Given the description of an element on the screen output the (x, y) to click on. 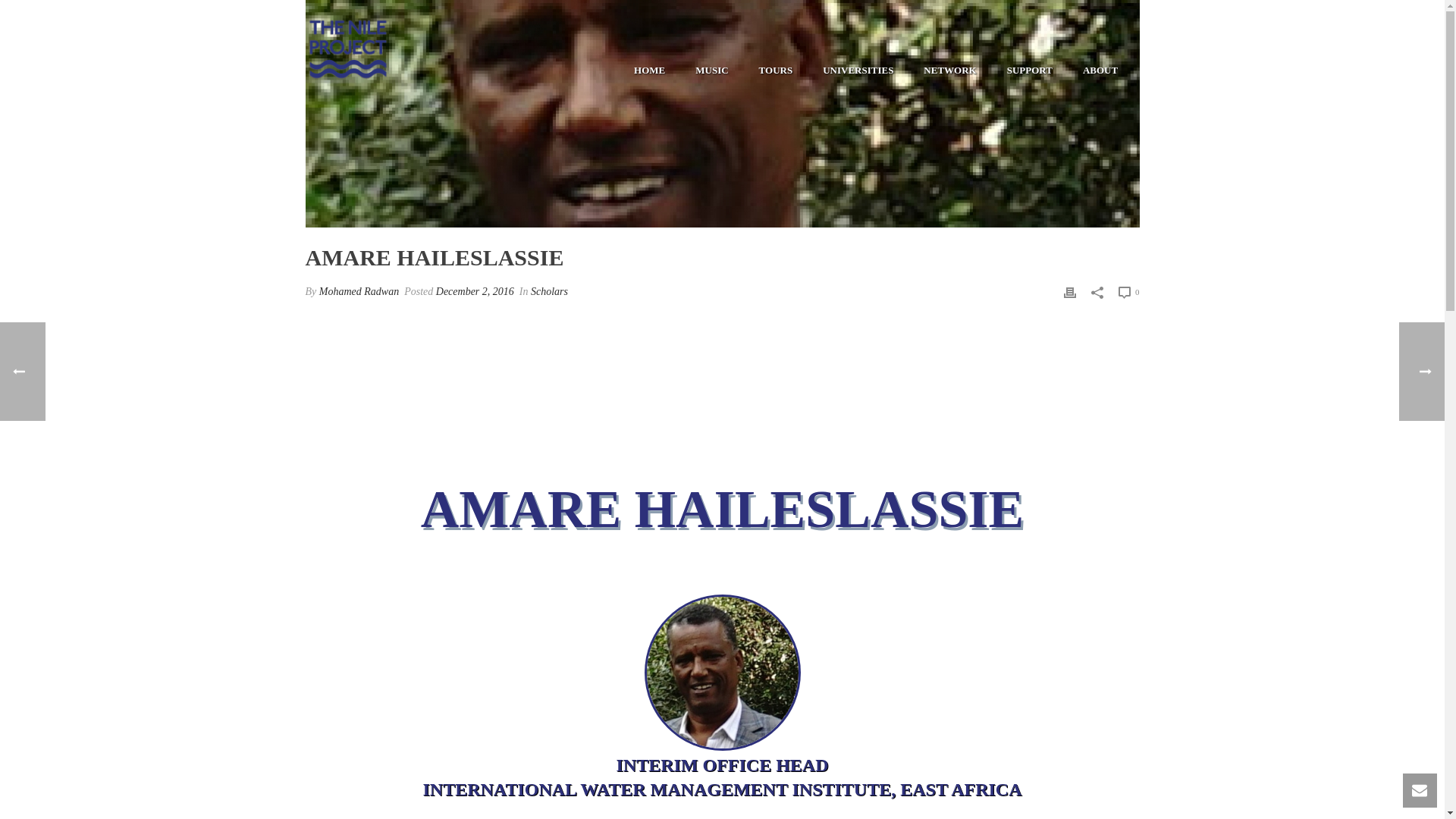
ABOUT (1099, 70)
TOURS (776, 70)
UNIVERSITIES (858, 70)
Posts by Mohamed Radwan (358, 291)
NETWORK (949, 70)
UNIVERSITIES (858, 70)
NETWORK (949, 70)
SUPPORT (1029, 70)
SUPPORT (1029, 70)
TOURS (776, 70)
ABOUT (1099, 70)
MUSIC (710, 70)
HOME (648, 70)
HOME (648, 70)
